Given the description of an element on the screen output the (x, y) to click on. 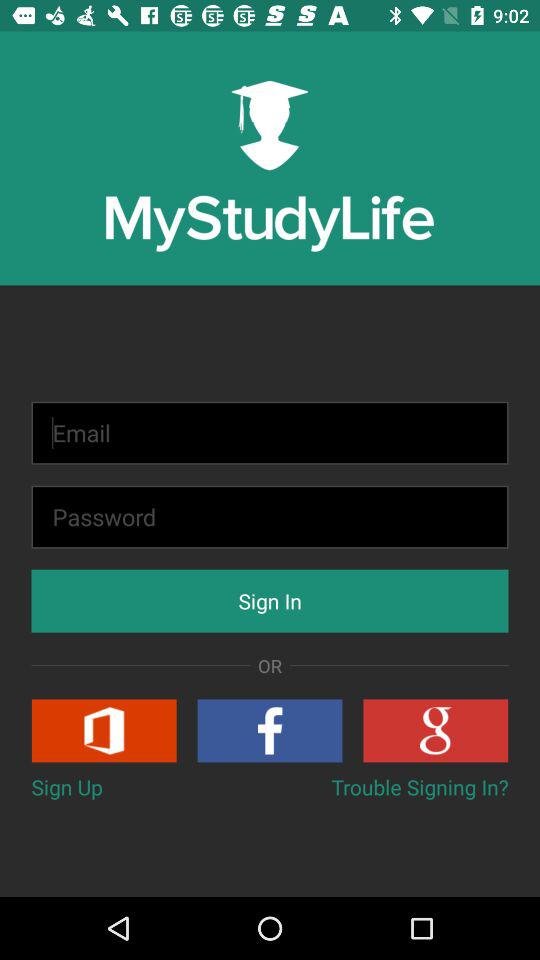
login with facebook (269, 730)
